Given the description of an element on the screen output the (x, y) to click on. 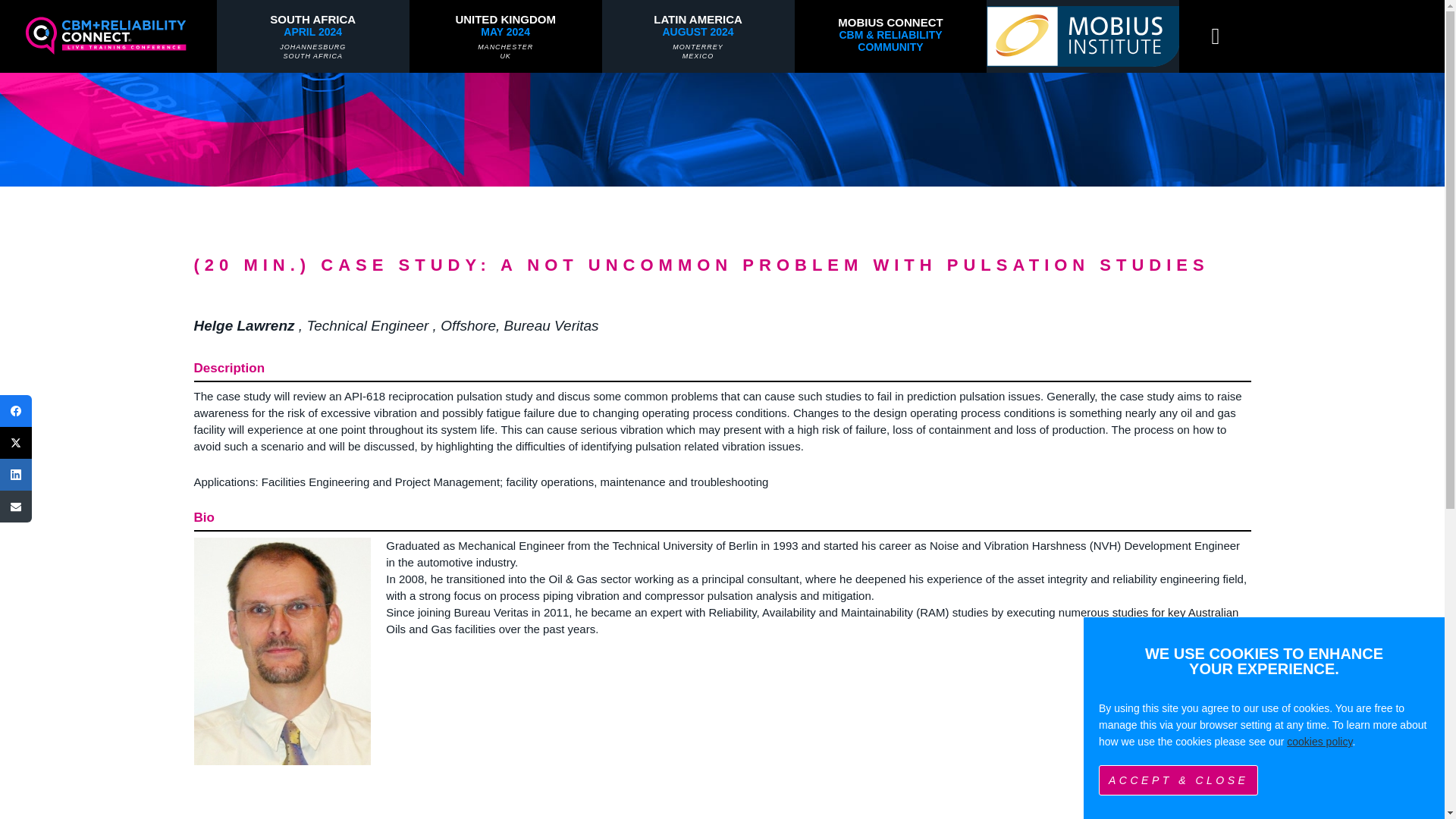
MENU ITEM (698, 36)
cookies policy (1083, 36)
